Given the description of an element on the screen output the (x, y) to click on. 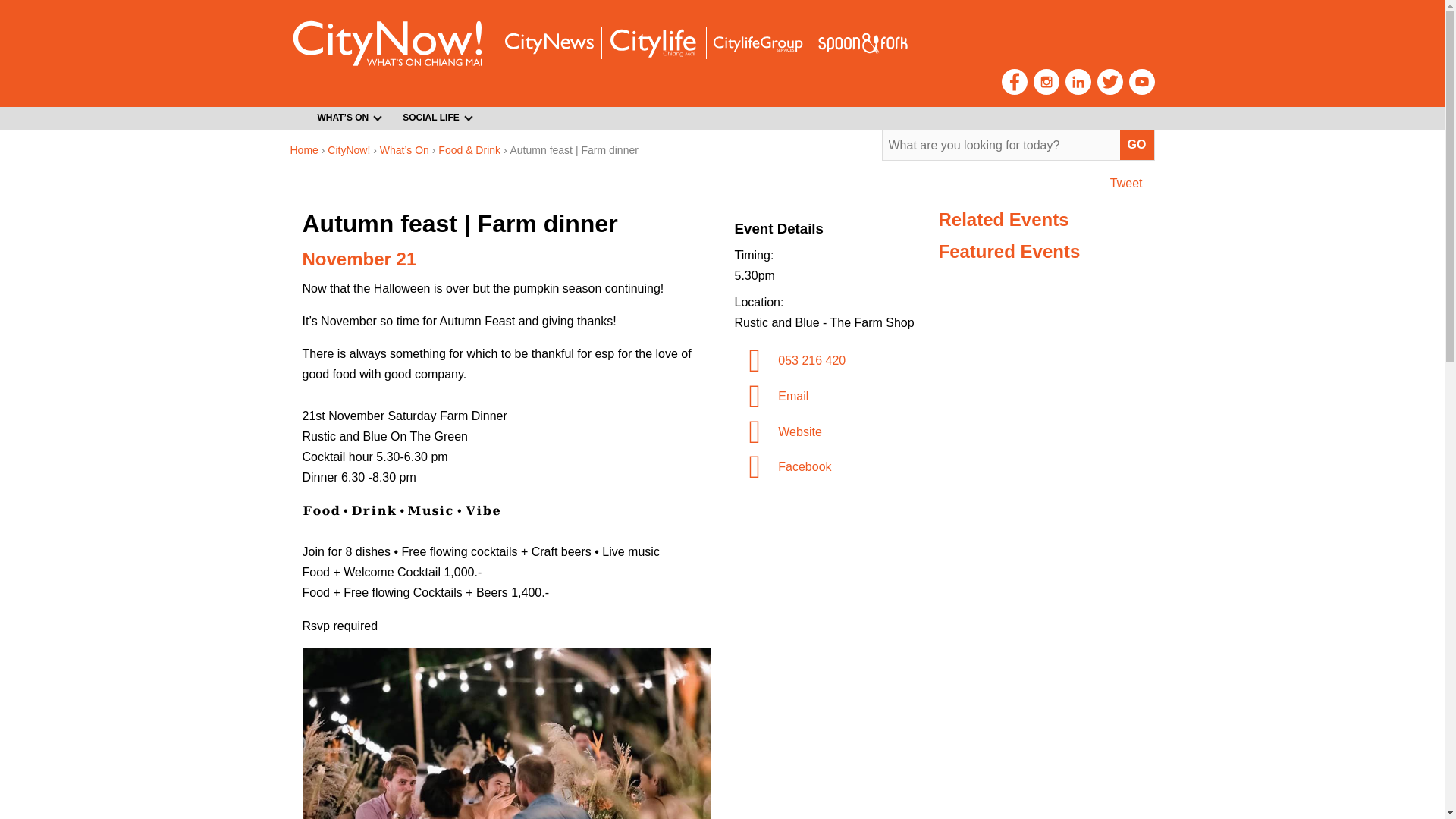
CityNow! - What's on Chiang Mai (386, 43)
CityNews (548, 43)
Chiang Mai Citylife (652, 42)
Go (1136, 144)
Citylife Group Services (757, 43)
SOCIAL LIFE (432, 118)
Go (1136, 144)
